Given the description of an element on the screen output the (x, y) to click on. 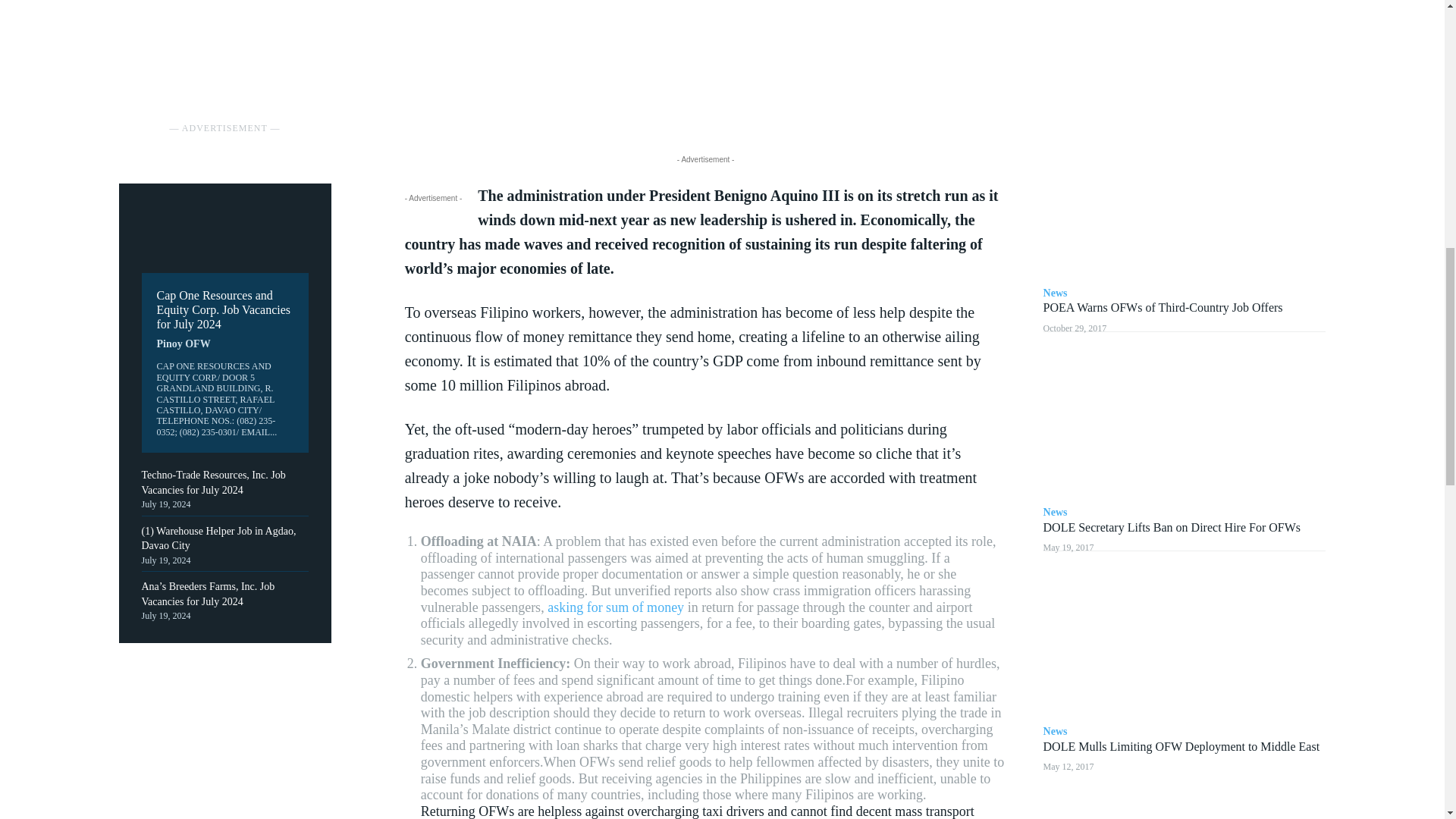
Mandaue Foam Industries, Inc. Job Vacancies for August 2024 (223, 18)
Techno-Trade Resources, Inc. Job Vacancies for July 2024 (213, 482)
Pinoy OFW (182, 343)
Techno-Trade Resources, Inc. Job Vacancies for July 2024 (213, 482)
asking for sum of money (615, 607)
